Given the description of an element on the screen output the (x, y) to click on. 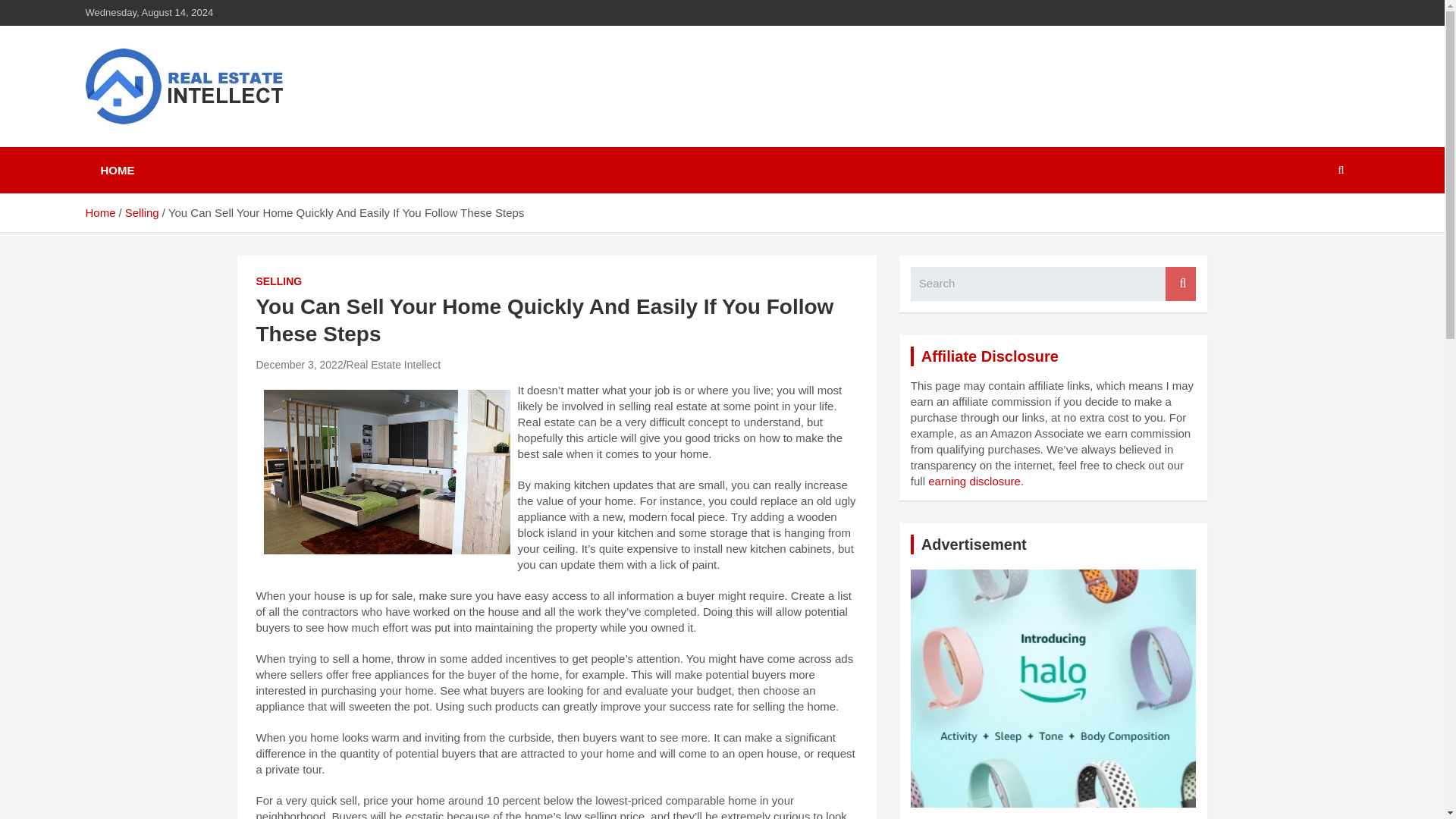
Search (1180, 283)
Home (99, 212)
SELLING (279, 281)
earning disclosure (974, 481)
Real Estate Intellect (393, 364)
December 3, 2022 (299, 364)
Selling (141, 212)
Affiliate Disclosure (989, 356)
HOME (116, 170)
